Given the description of an element on the screen output the (x, y) to click on. 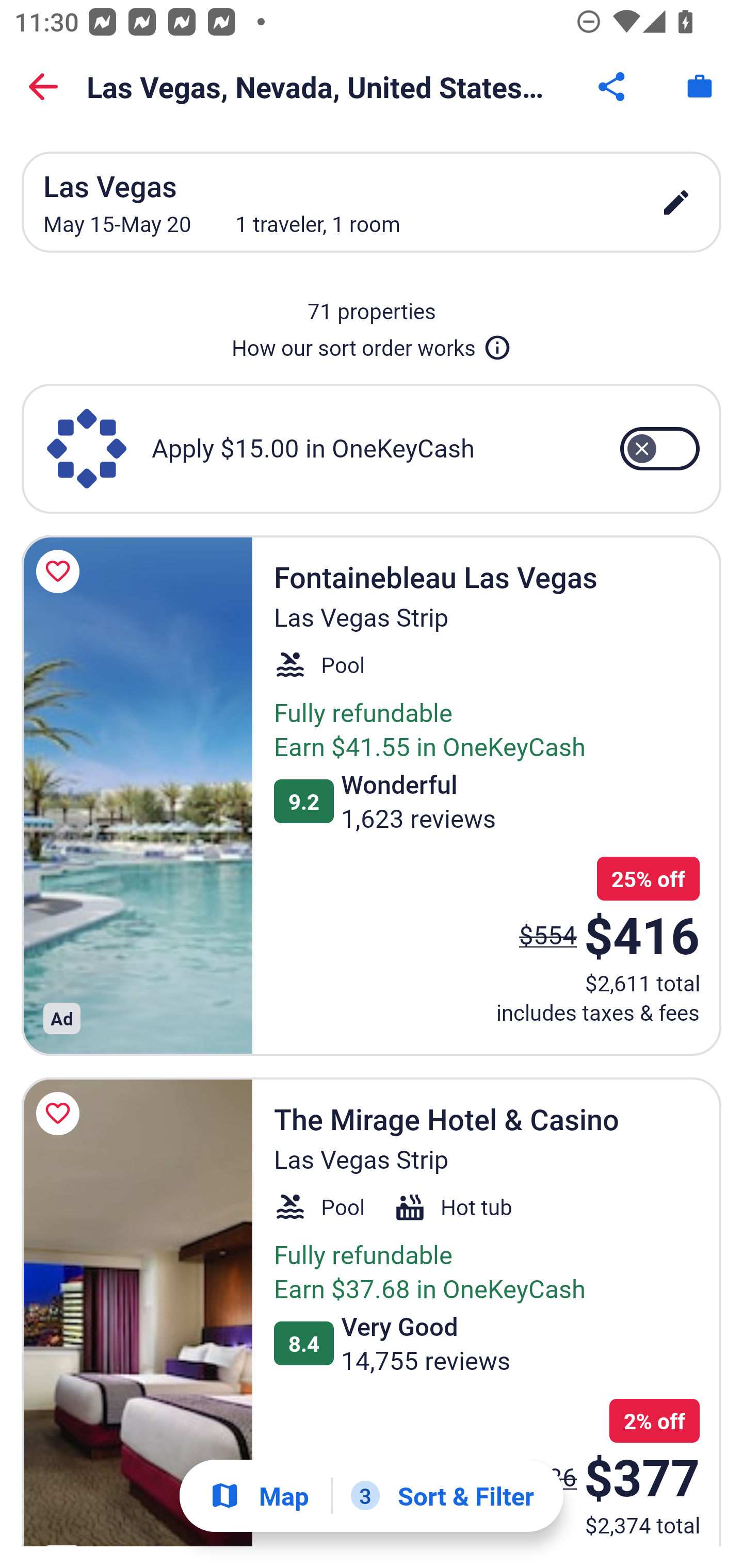
Back (43, 86)
Share Button (612, 86)
Trips. Button (699, 86)
Las Vegas May 15-May 20 1 traveler, 1 room edit (371, 202)
How our sort order works (371, 344)
Save Fontainebleau Las Vegas to a trip (61, 571)
Fontainebleau Las Vegas (136, 794)
$554 The price was $554 (547, 934)
Save The Mirage Hotel & Casino to a trip (61, 1113)
The Mirage Hotel & Casino (136, 1311)
3 Sort & Filter 3 Filters applied. Filters Button (442, 1495)
Show map Map Show map Button (258, 1495)
